Given the description of an element on the screen output the (x, y) to click on. 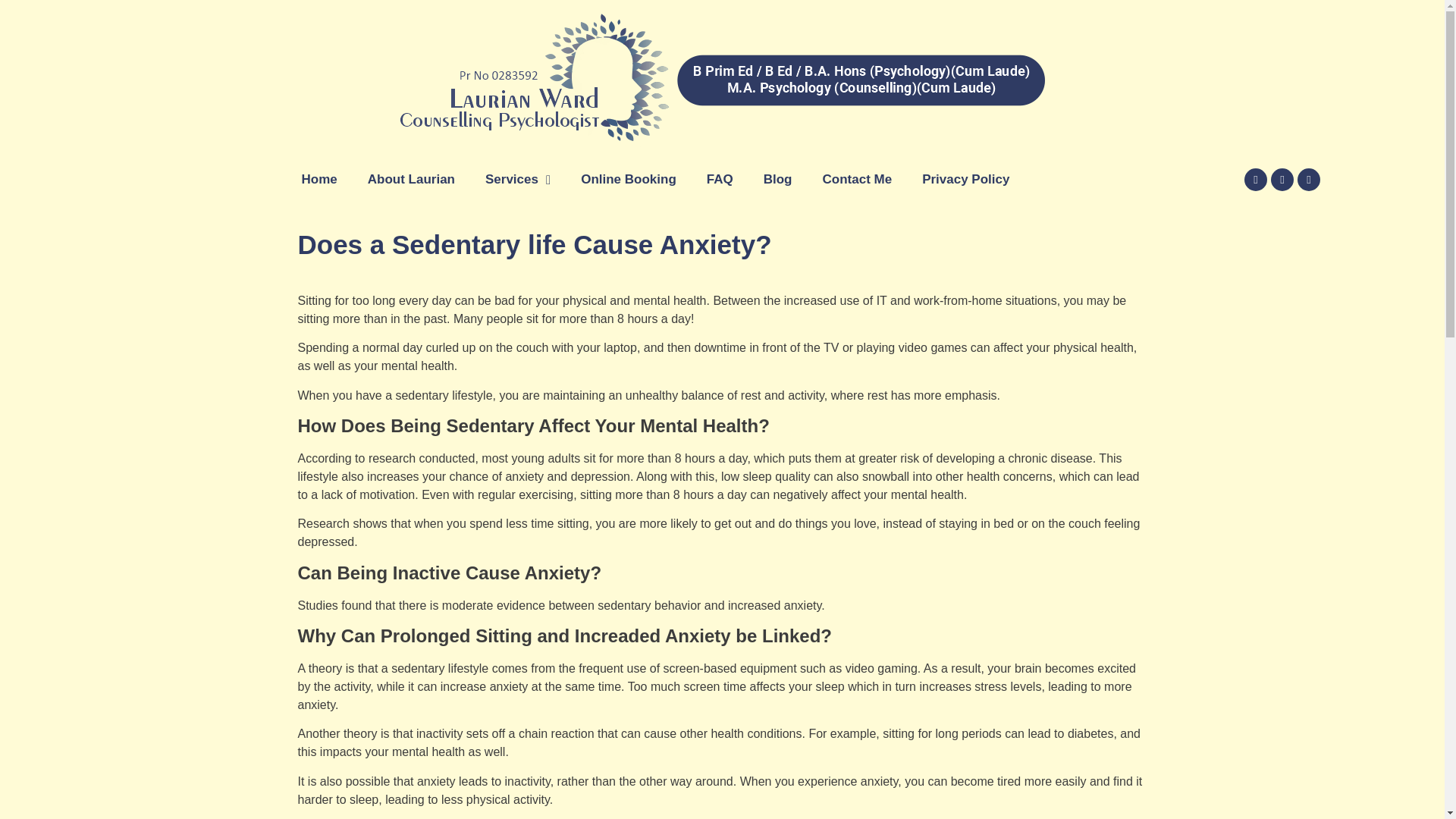
About Laurian (417, 179)
Contact Me (850, 179)
Blog (772, 179)
Privacy Policy (959, 179)
FAQ (713, 179)
Home (325, 179)
Services (517, 179)
Online Booking (622, 179)
